Given the description of an element on the screen output the (x, y) to click on. 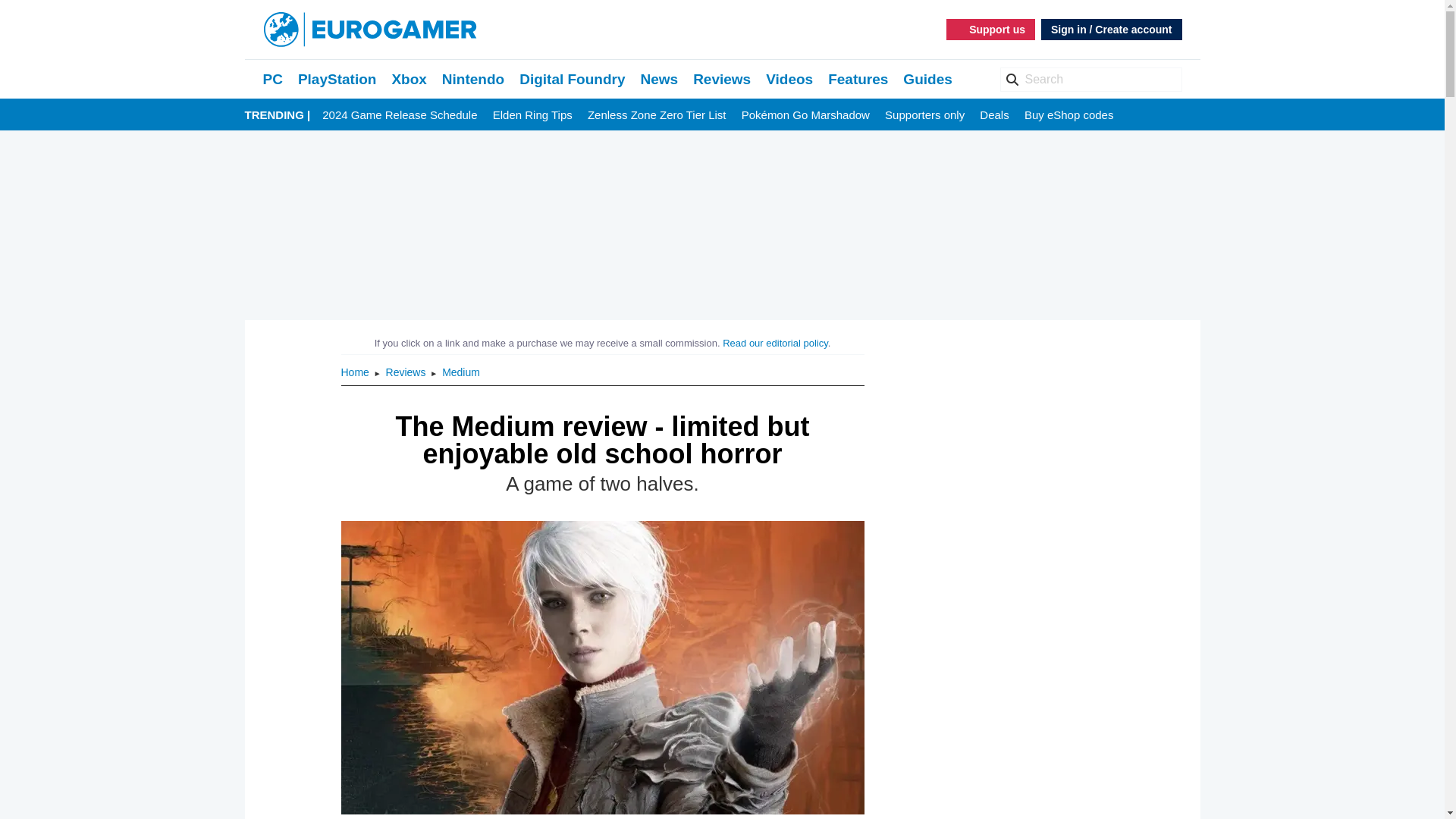
News (659, 78)
Digital Foundry (571, 78)
Xbox (408, 78)
Videos (788, 78)
Medium (461, 372)
2024 Game Release Schedule (399, 114)
Reviews (722, 78)
PlayStation (336, 78)
Reviews (722, 78)
PlayStation (336, 78)
Deals (994, 114)
Reviews (407, 372)
Supporters only (924, 114)
Elden Ring Tips (532, 114)
Zenless Zone Zero Tier List (657, 114)
